Given the description of an element on the screen output the (x, y) to click on. 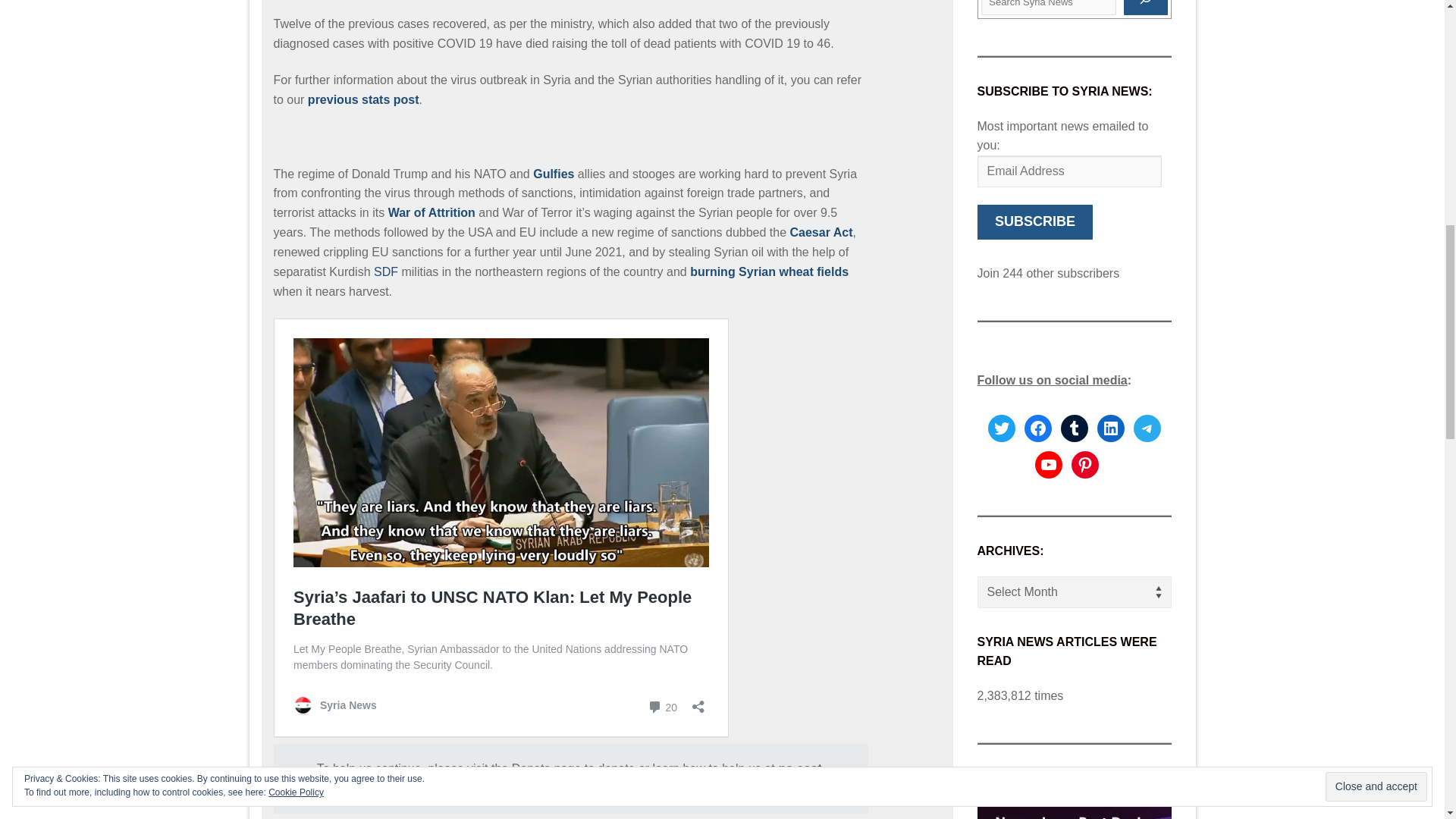
War of Attrition (432, 212)
SDF (385, 271)
Gulfies (552, 173)
previous stats post (363, 99)
Caesar Act (821, 232)
burning Syrian wheat fields (769, 271)
A US-sponsored separatist Kurdish militia. (385, 271)
